Given the description of an element on the screen output the (x, y) to click on. 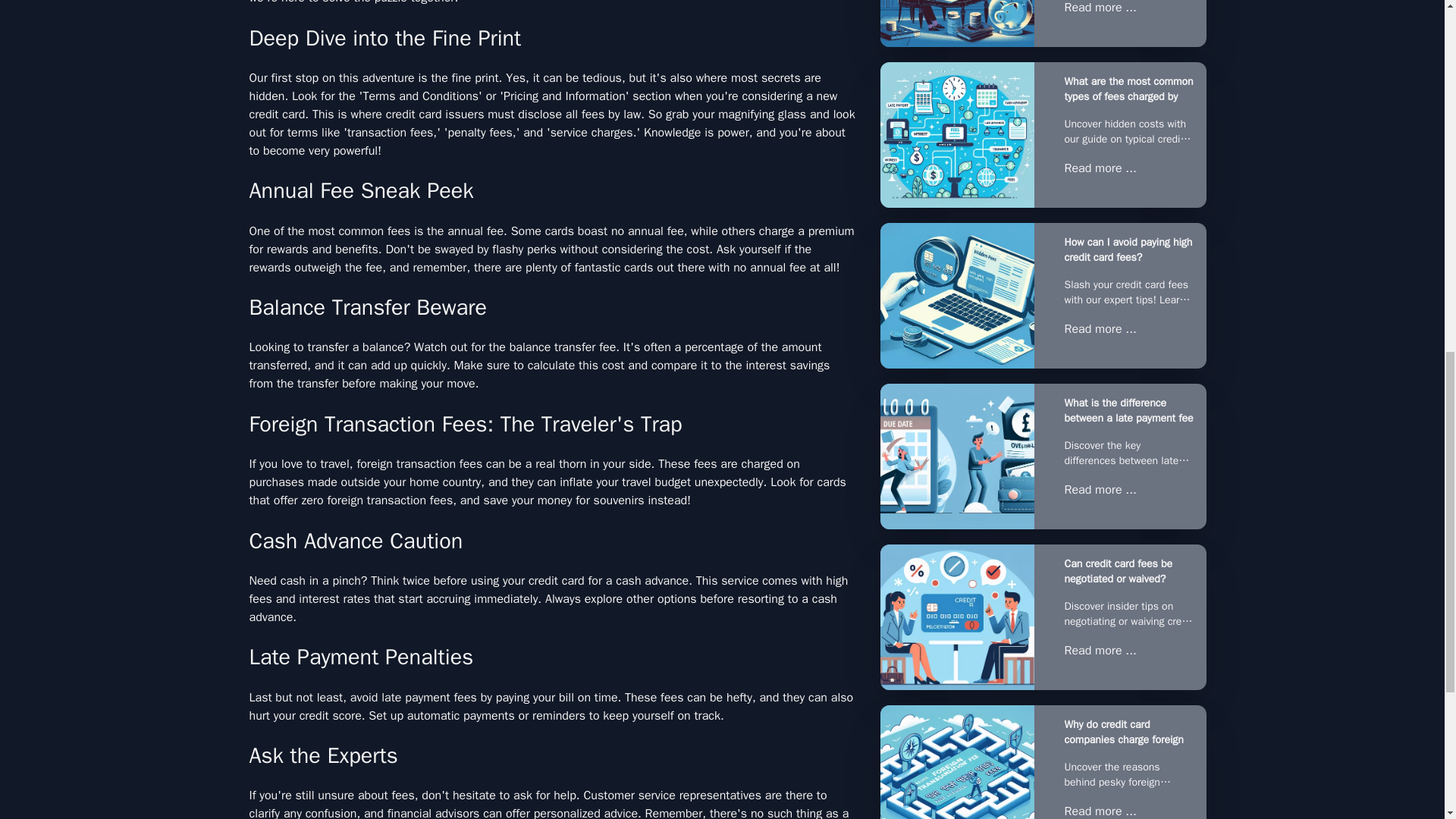
Can credit card fees be negotiated or waived? (956, 617)
